Given the description of an element on the screen output the (x, y) to click on. 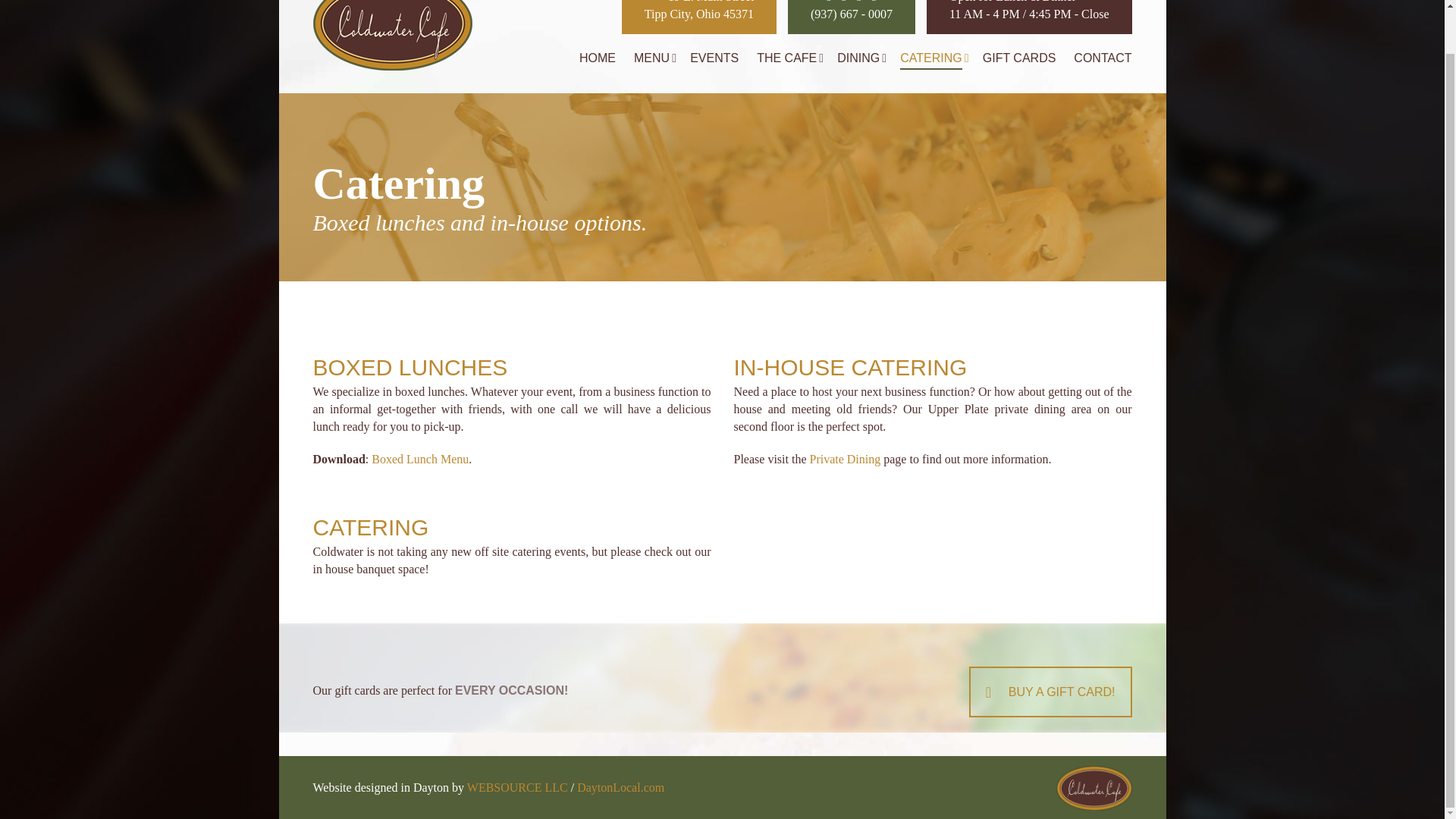
EVENTS (714, 57)
MENU (651, 57)
HOME (597, 57)
Dayton Local (619, 787)
THE CAFE (698, 17)
Dayton Website Design (786, 57)
